Given the description of an element on the screen output the (x, y) to click on. 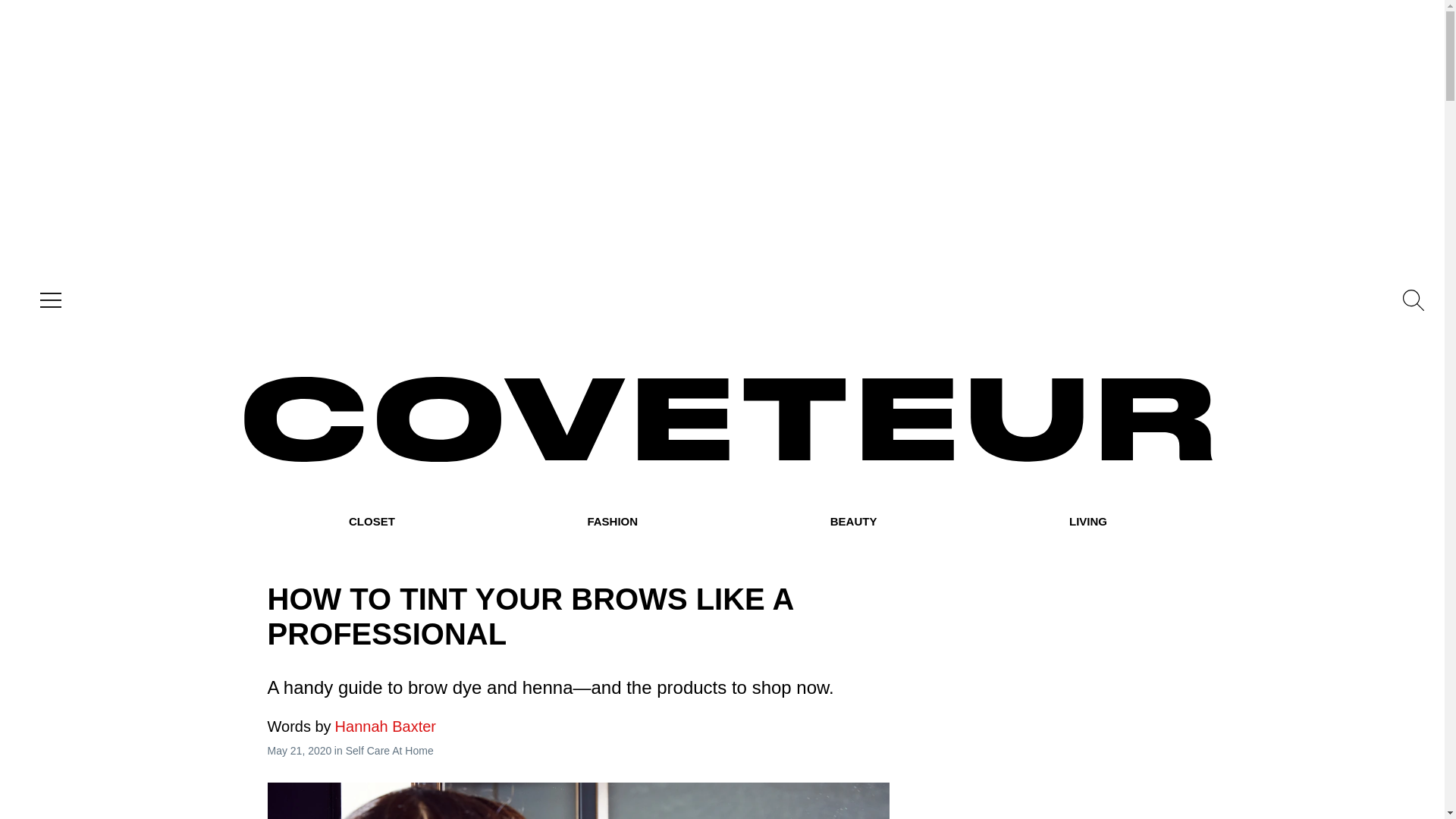
FASHION (611, 521)
menu (47, 299)
Self Care At Home (389, 750)
Hannah Baxter (350, 726)
CLOSET (371, 521)
BEAUTY (853, 521)
LIVING (1087, 521)
